Given the description of an element on the screen output the (x, y) to click on. 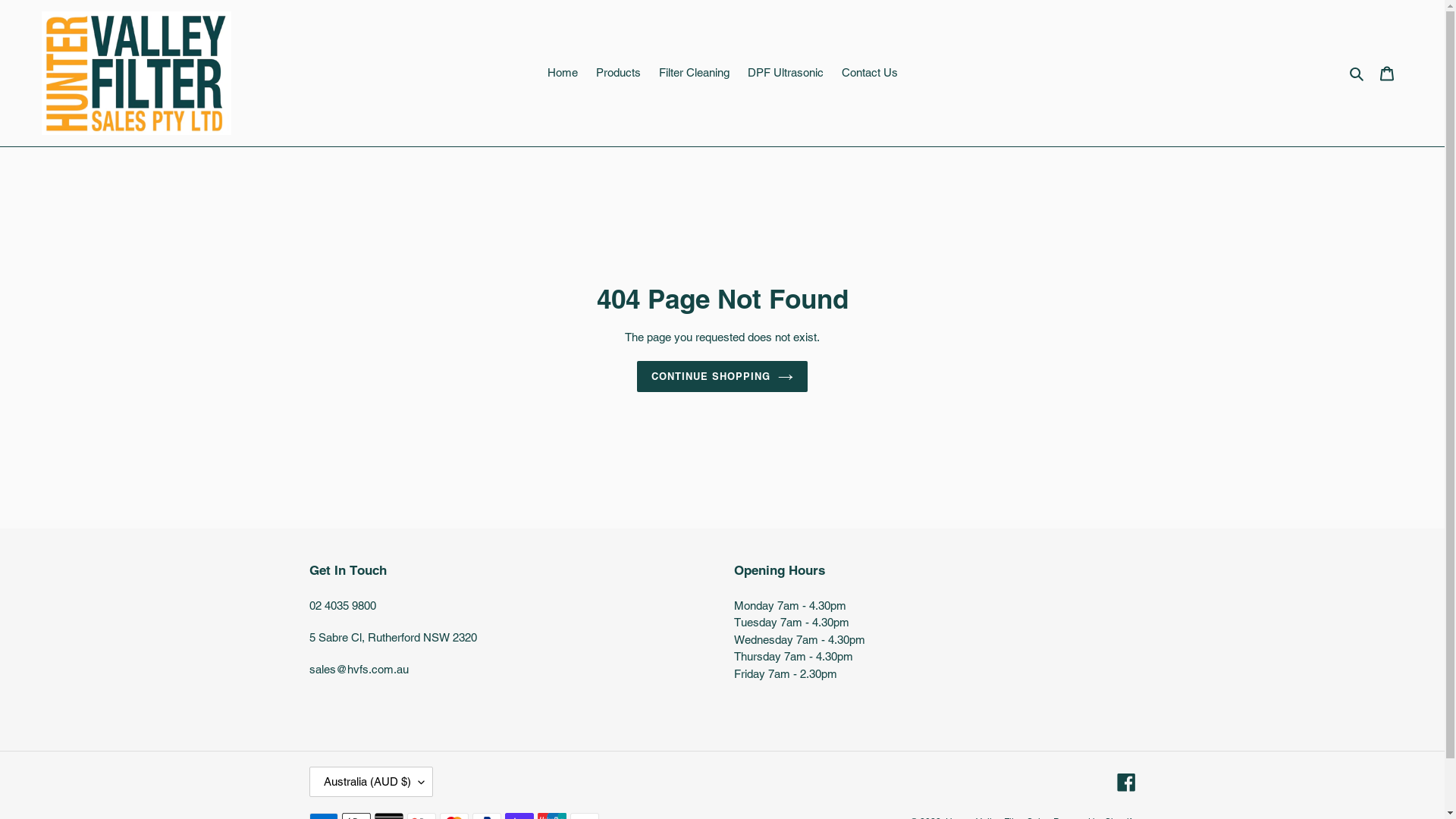
DPF Ultrasonic Element type: text (785, 73)
Filter Cleaning Element type: text (693, 73)
CONTINUE SHOPPING Element type: text (722, 376)
Products Element type: text (618, 73)
Australia (AUD $) Element type: text (371, 781)
Contact Us Element type: text (869, 73)
Search Element type: text (1357, 72)
Cart Element type: text (1386, 72)
Home Element type: text (562, 73)
Facebook Element type: text (1125, 781)
